Given the description of an element on the screen output the (x, y) to click on. 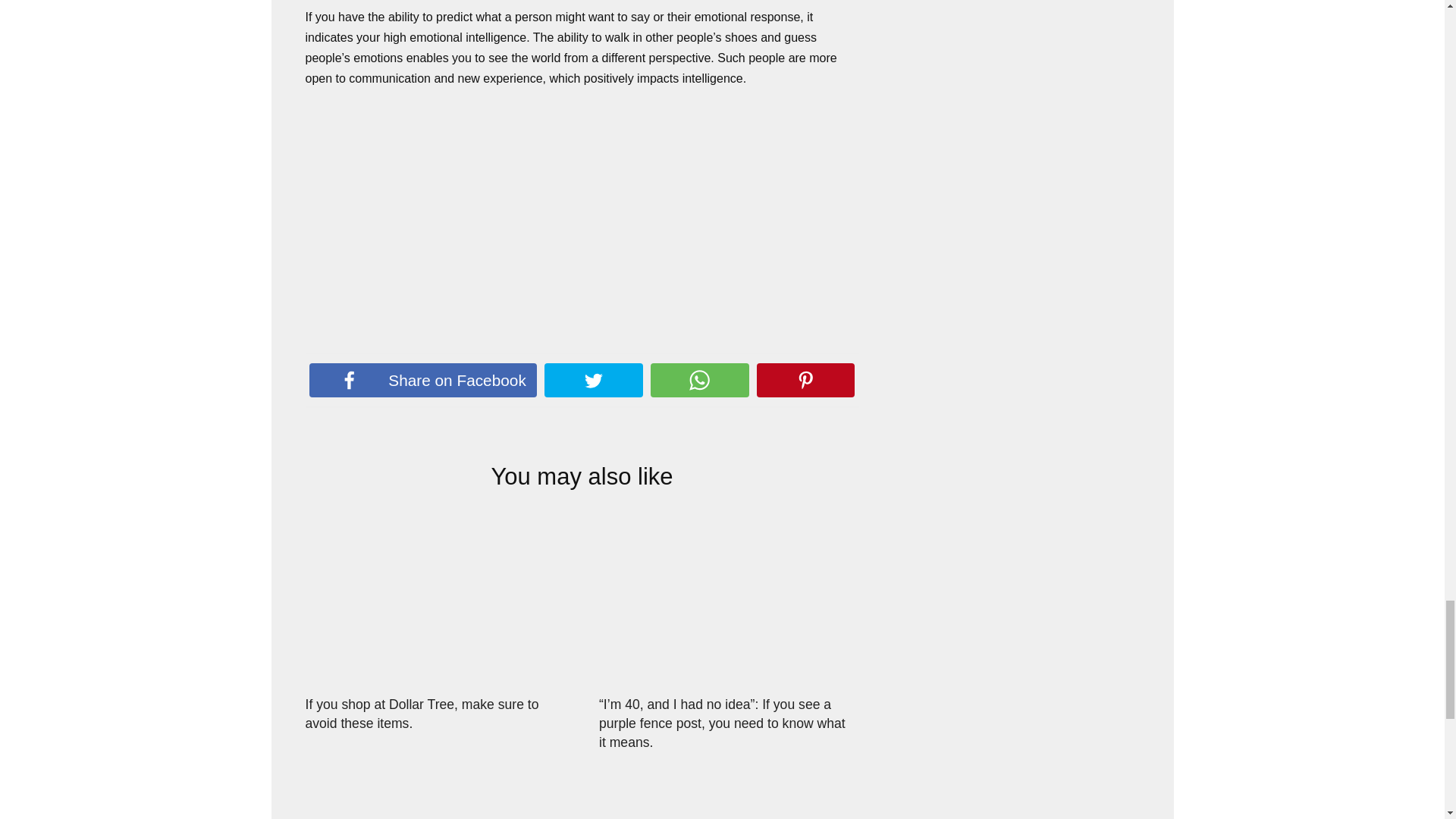
If you shop at Dollar Tree, make sure to avoid these items. (421, 713)
